Given the description of an element on the screen output the (x, y) to click on. 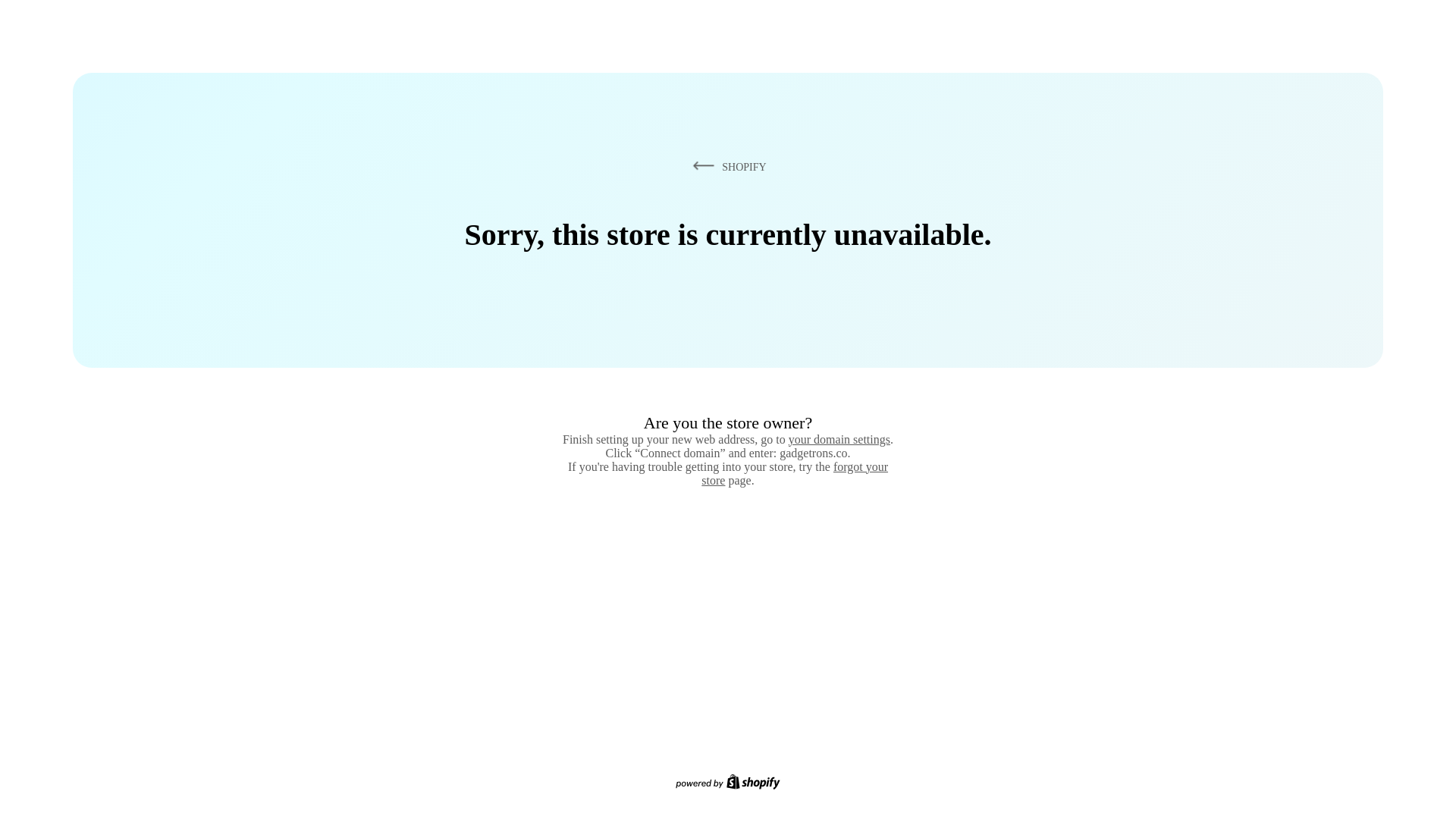
SHOPIFY (726, 166)
forgot your store (794, 473)
your domain settings (839, 439)
